Given the description of an element on the screen output the (x, y) to click on. 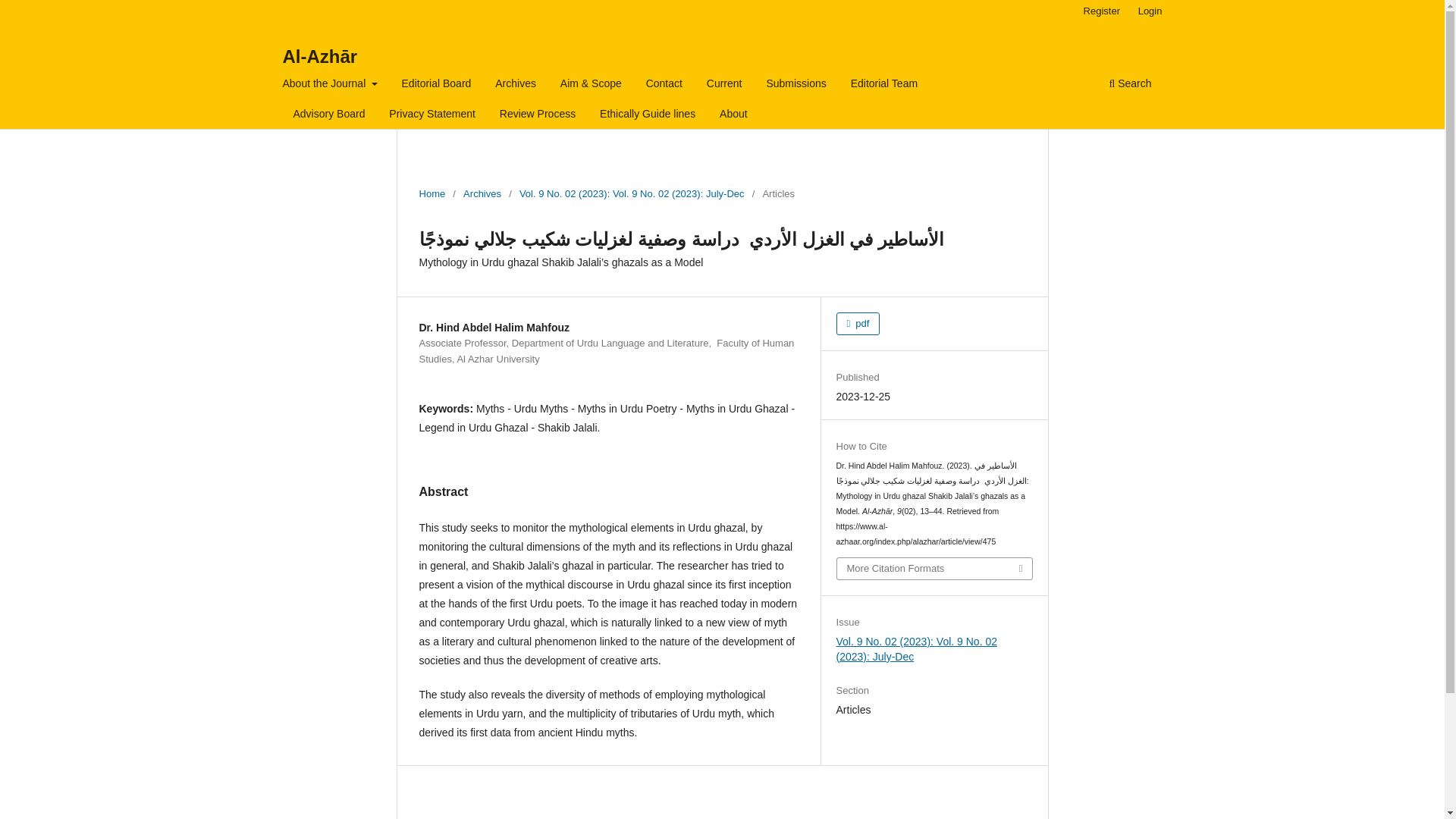
Privacy Statement (432, 115)
Home (432, 193)
Current (724, 85)
About the Journal (330, 85)
More Citation Formats (934, 568)
Editorial Team (884, 85)
Review Process (537, 115)
Archives (515, 85)
Advisory Board (329, 115)
Contact (663, 85)
Archives (481, 193)
Search (1129, 85)
Login (1150, 11)
pdf (857, 323)
Editorial Board (436, 85)
